Given the description of an element on the screen output the (x, y) to click on. 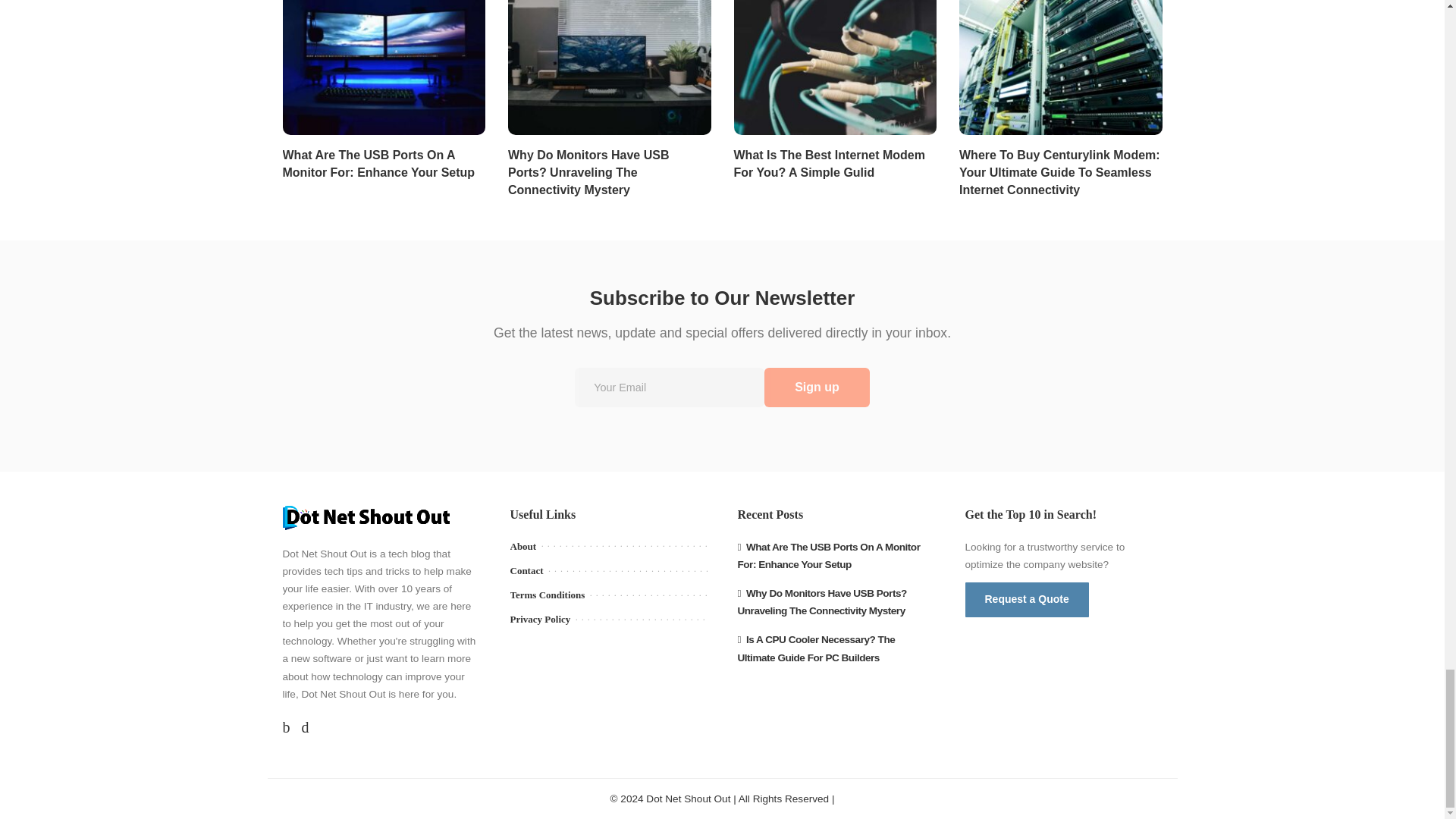
Sign up (816, 387)
